Given the description of an element on the screen output the (x, y) to click on. 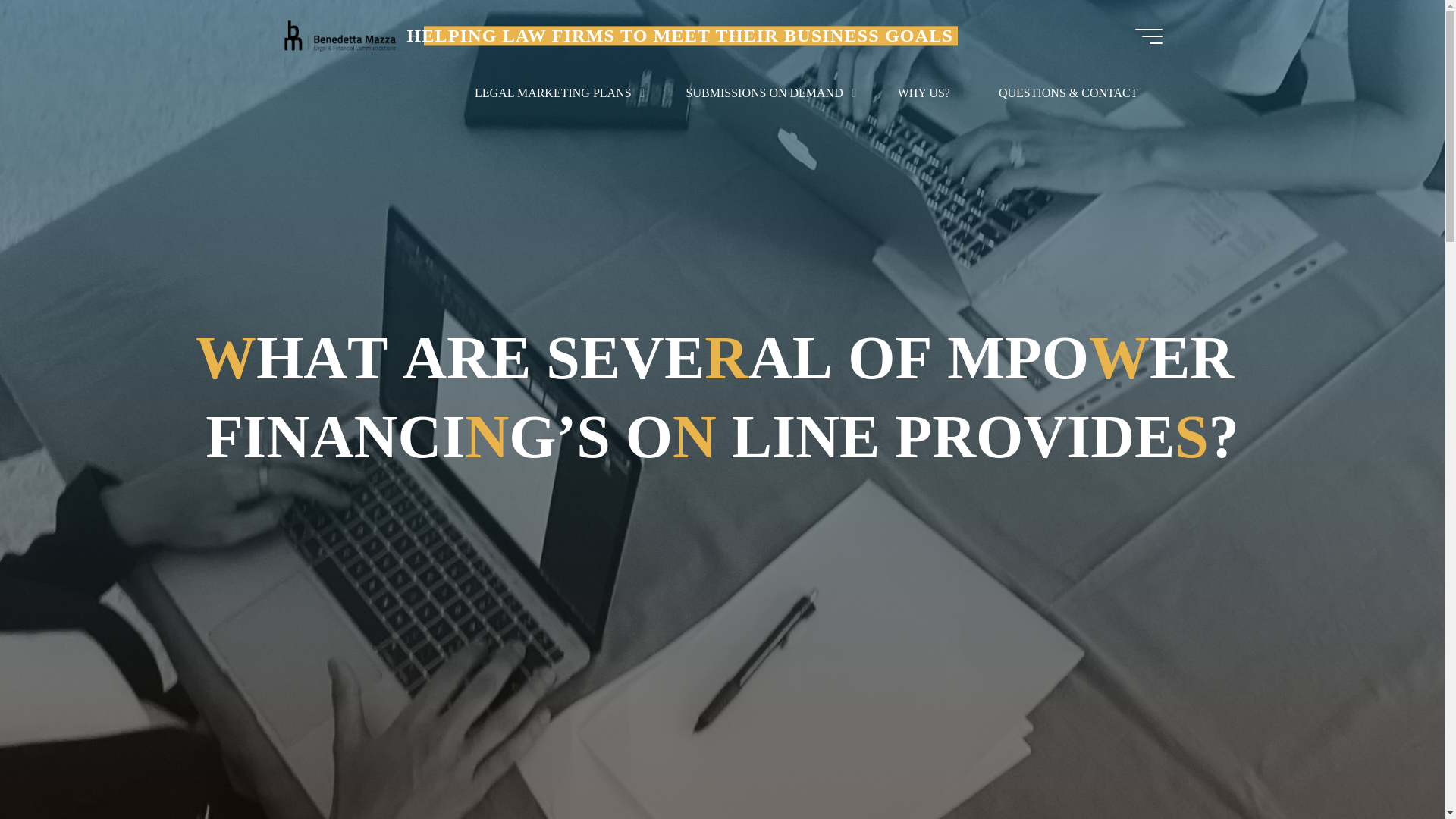
HELPING LAW FIRMS TO MEET THEIR BUSINESS GOALS (679, 35)
HELPING LAW FIRMS TO MEET THEIR BUSINESS GOALS (339, 35)
SUBMISSIONS ON DEMAND (767, 92)
WHY US? (923, 92)
Leggi tutto (721, 724)
LEGAL MARKETING PLANS (555, 92)
